Given the description of an element on the screen output the (x, y) to click on. 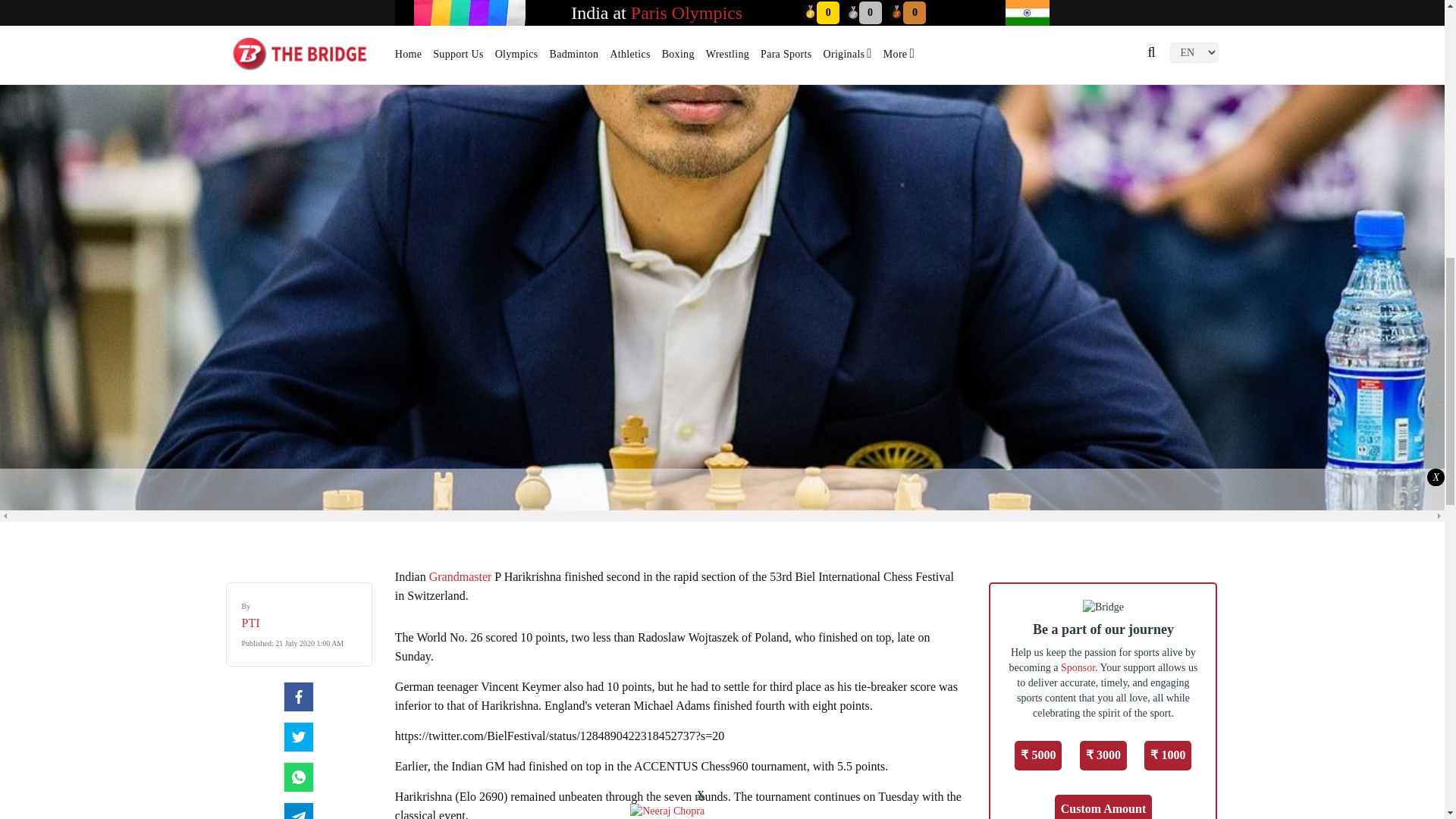
Advertisement (721, 487)
